Given the description of an element on the screen output the (x, y) to click on. 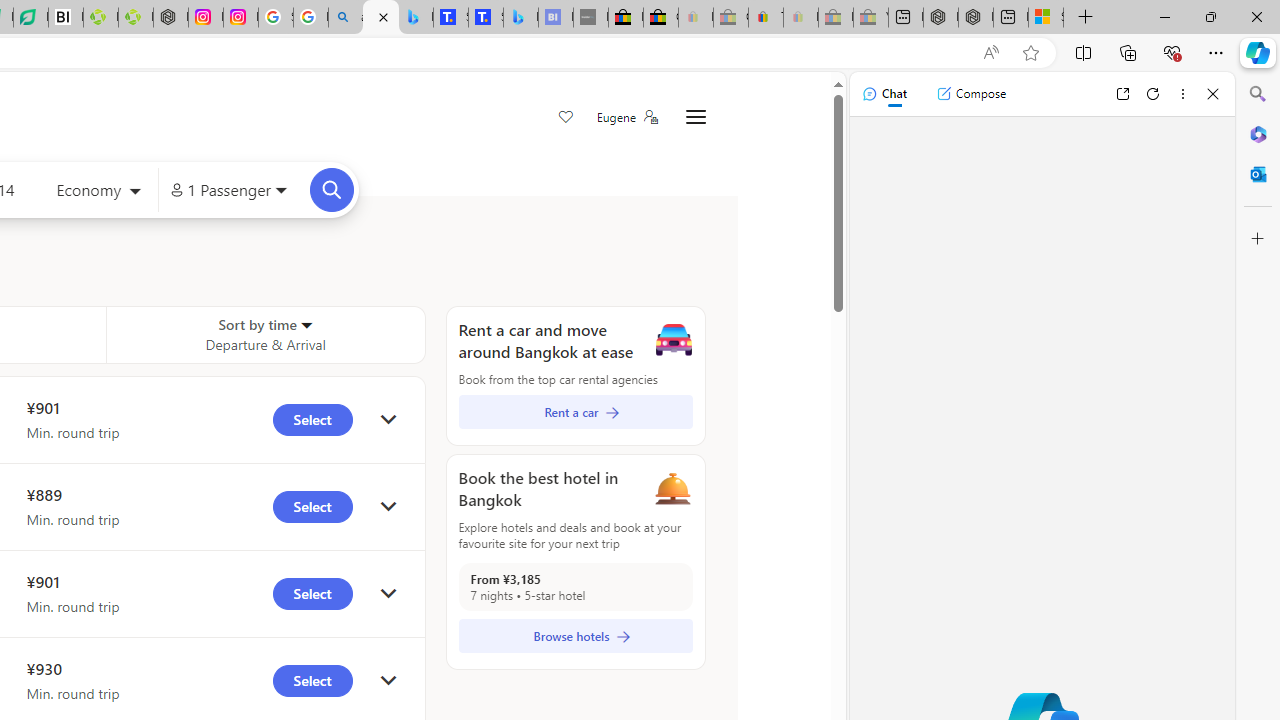
click to get details (388, 680)
Nordace - Summer Adventures 2024 (975, 17)
LendingTree - Compare Lenders (31, 17)
Save (565, 118)
Payments Terms of Use | eBay.com - Sleeping (800, 17)
Eugene (626, 117)
Open link in new tab (1122, 93)
Compose (971, 93)
Descarga Driver Updater (136, 17)
Microsoft Bing Travel - Flights from Hong Kong to Bangkok (380, 17)
